Given the description of an element on the screen output the (x, y) to click on. 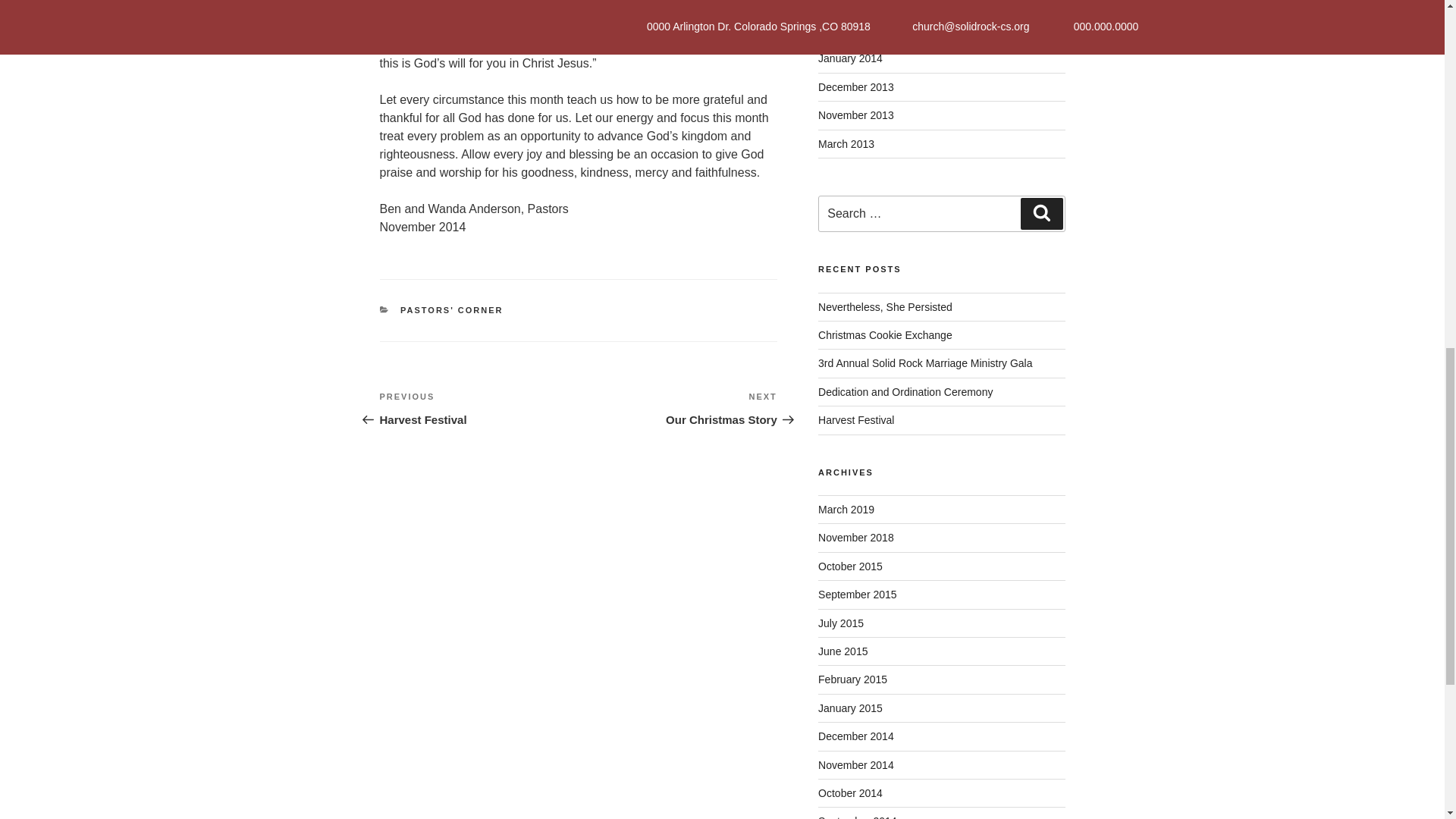
April 2014 (842, 4)
November 2013 (855, 114)
March 2014 (846, 30)
January 2014 (677, 408)
PASTORS' CORNER (850, 58)
December 2013 (451, 309)
